Given the description of an element on the screen output the (x, y) to click on. 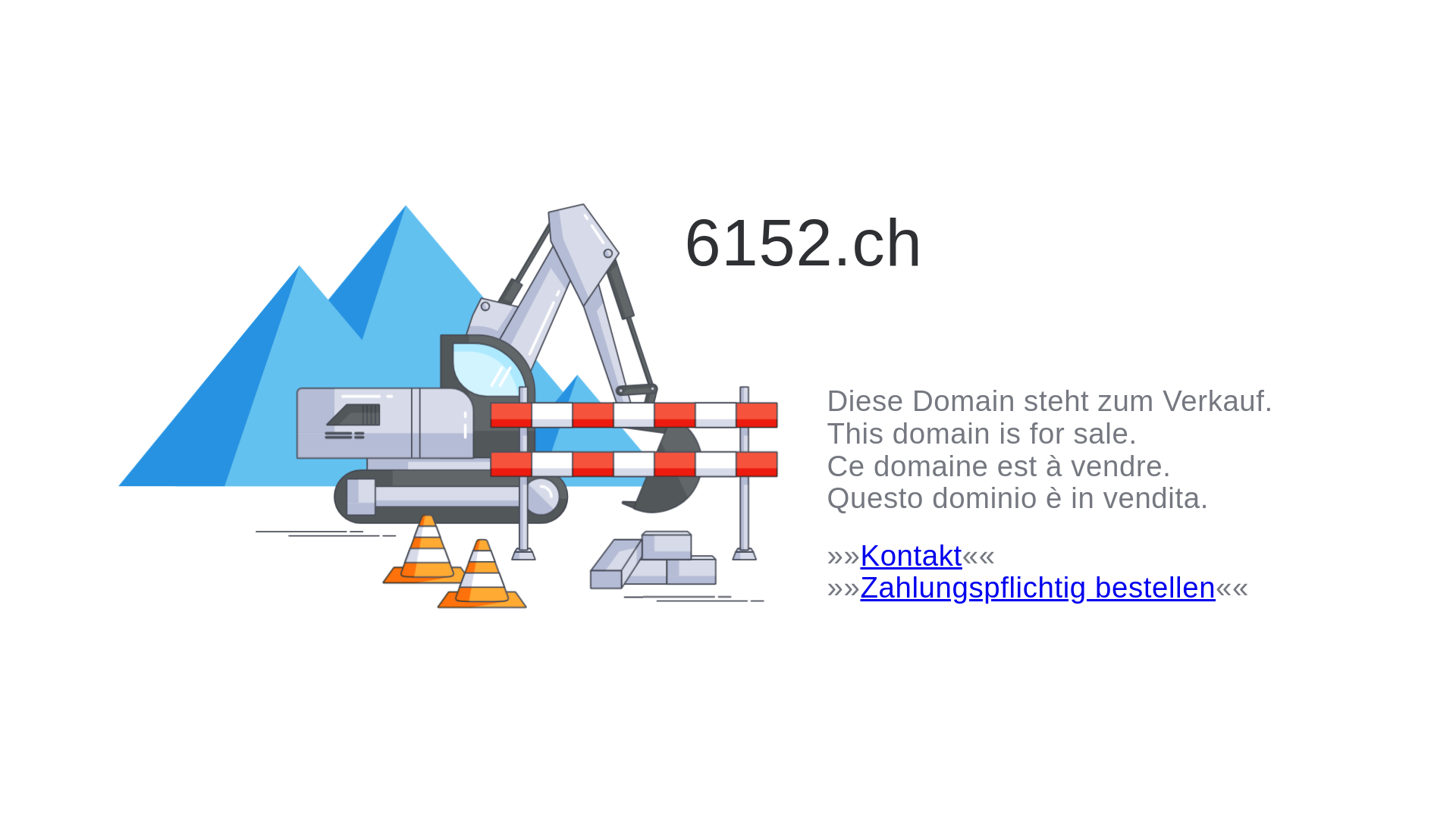
Kontakt Element type: text (910, 554)
Zahlungspflichtig bestellen Element type: text (1037, 587)
